Given the description of an element on the screen output the (x, y) to click on. 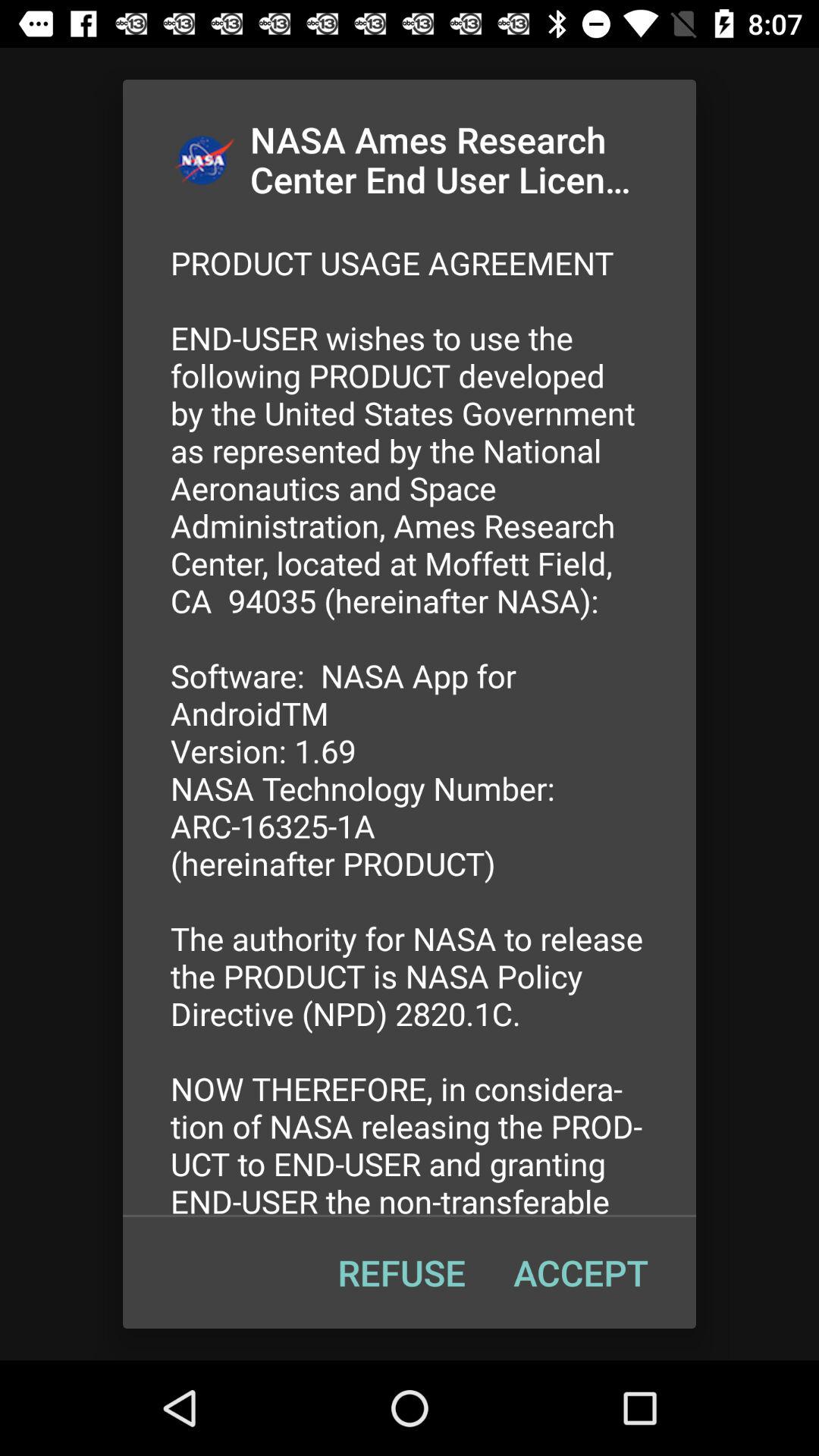
scroll to the refuse icon (401, 1272)
